Given the description of an element on the screen output the (x, y) to click on. 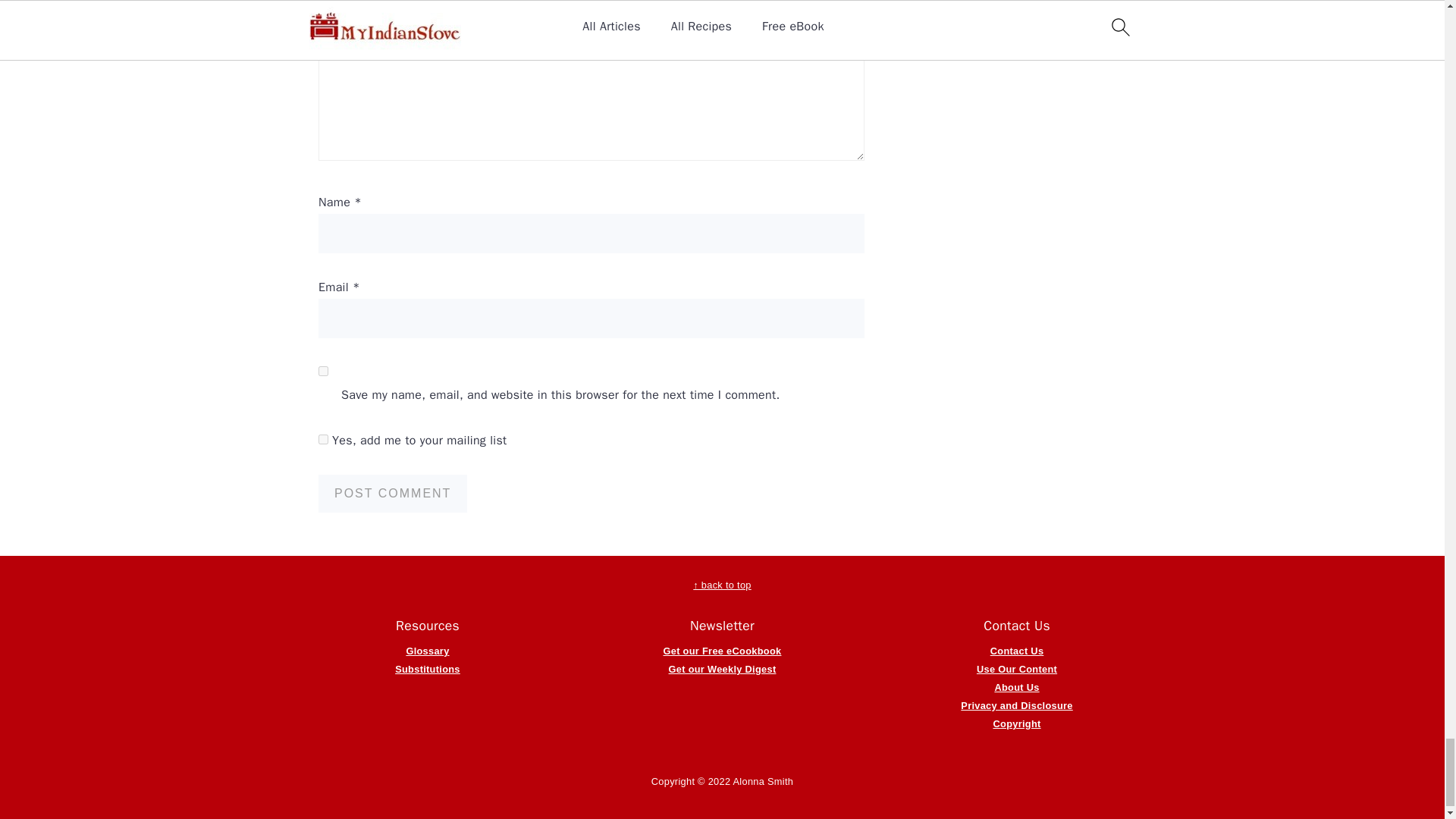
1 (323, 439)
Post Comment (392, 493)
yes (323, 370)
